Given the description of an element on the screen output the (x, y) to click on. 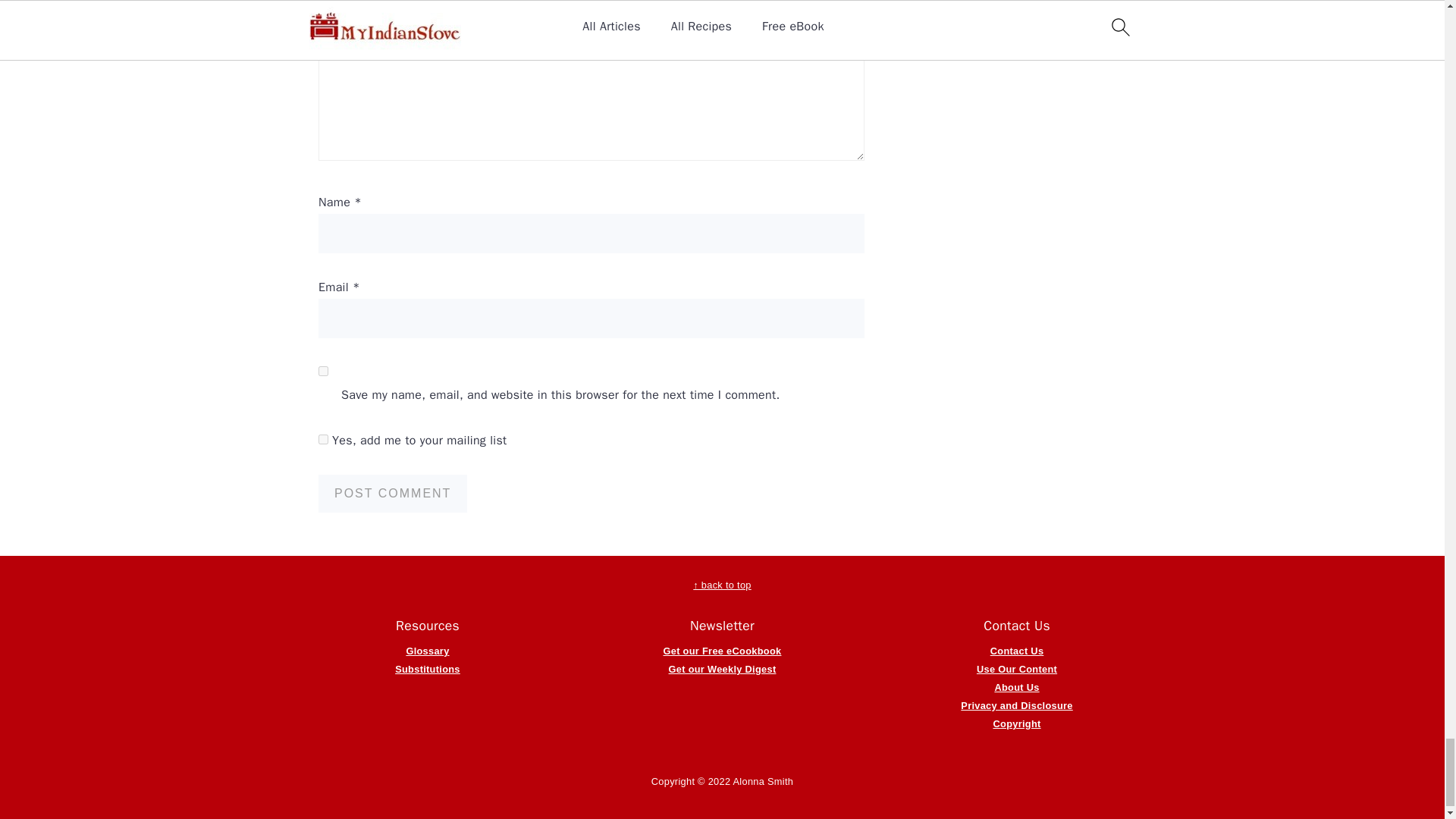
1 (323, 439)
Post Comment (392, 493)
yes (323, 370)
